Given the description of an element on the screen output the (x, y) to click on. 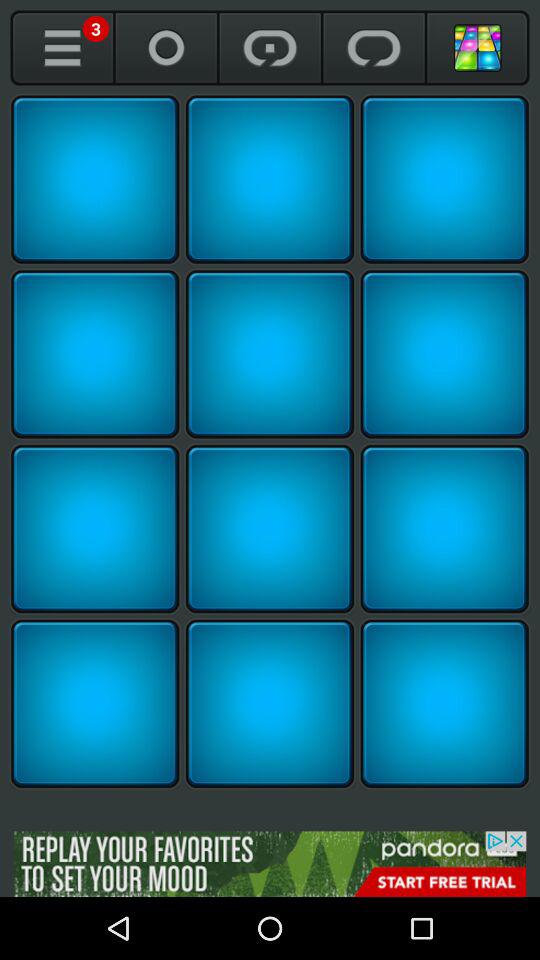
repeat (374, 47)
